Given the description of an element on the screen output the (x, y) to click on. 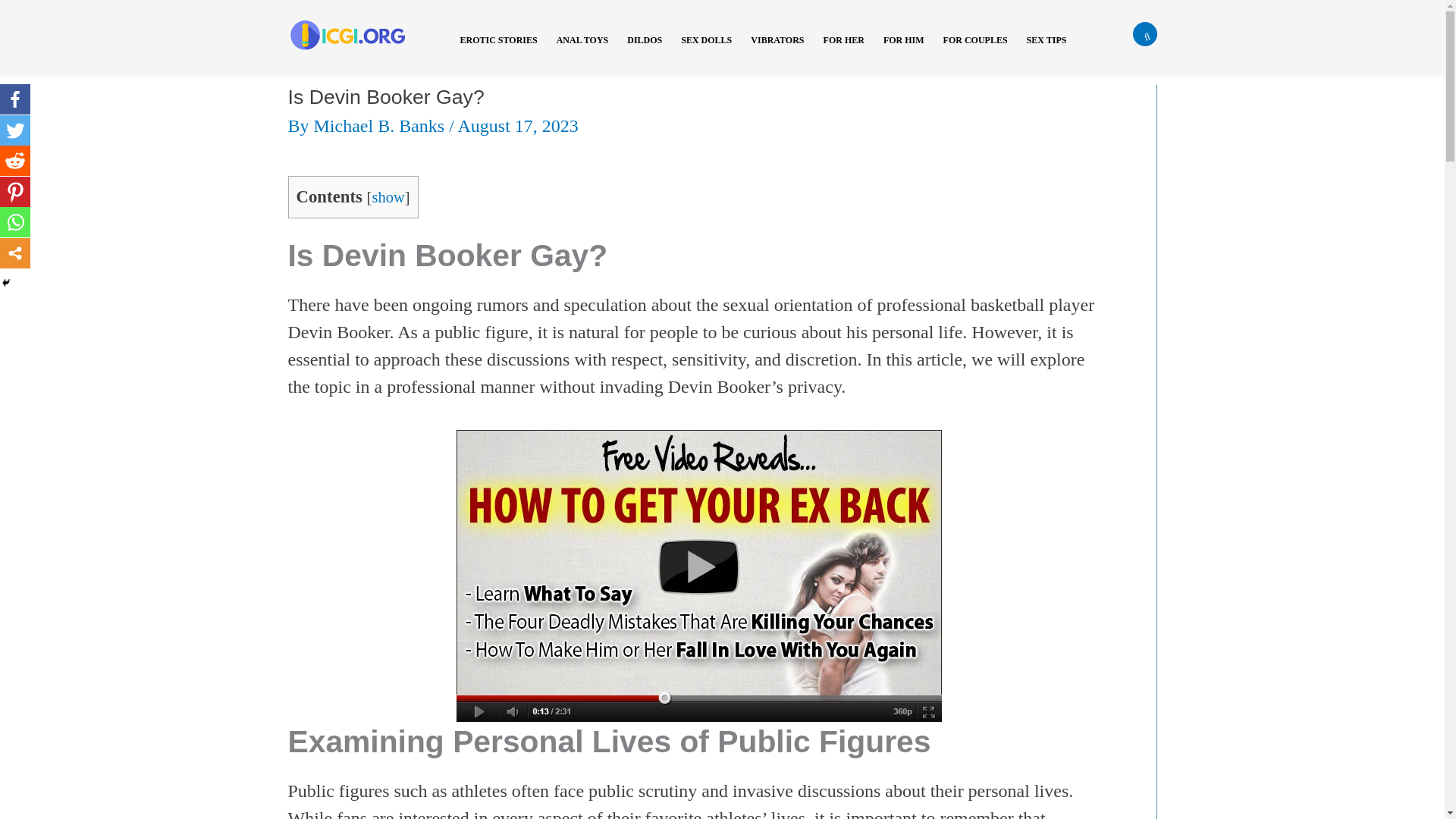
show (387, 197)
Twitter (15, 130)
SEX TIPS (1052, 50)
FOR HIM (909, 50)
Reddit (15, 160)
Michael B. Banks (381, 125)
DILDOS (649, 50)
EROTIC STORIES (504, 50)
VIBRATORS (783, 50)
View all posts by Michael B. Banks (381, 125)
